Given the description of an element on the screen output the (x, y) to click on. 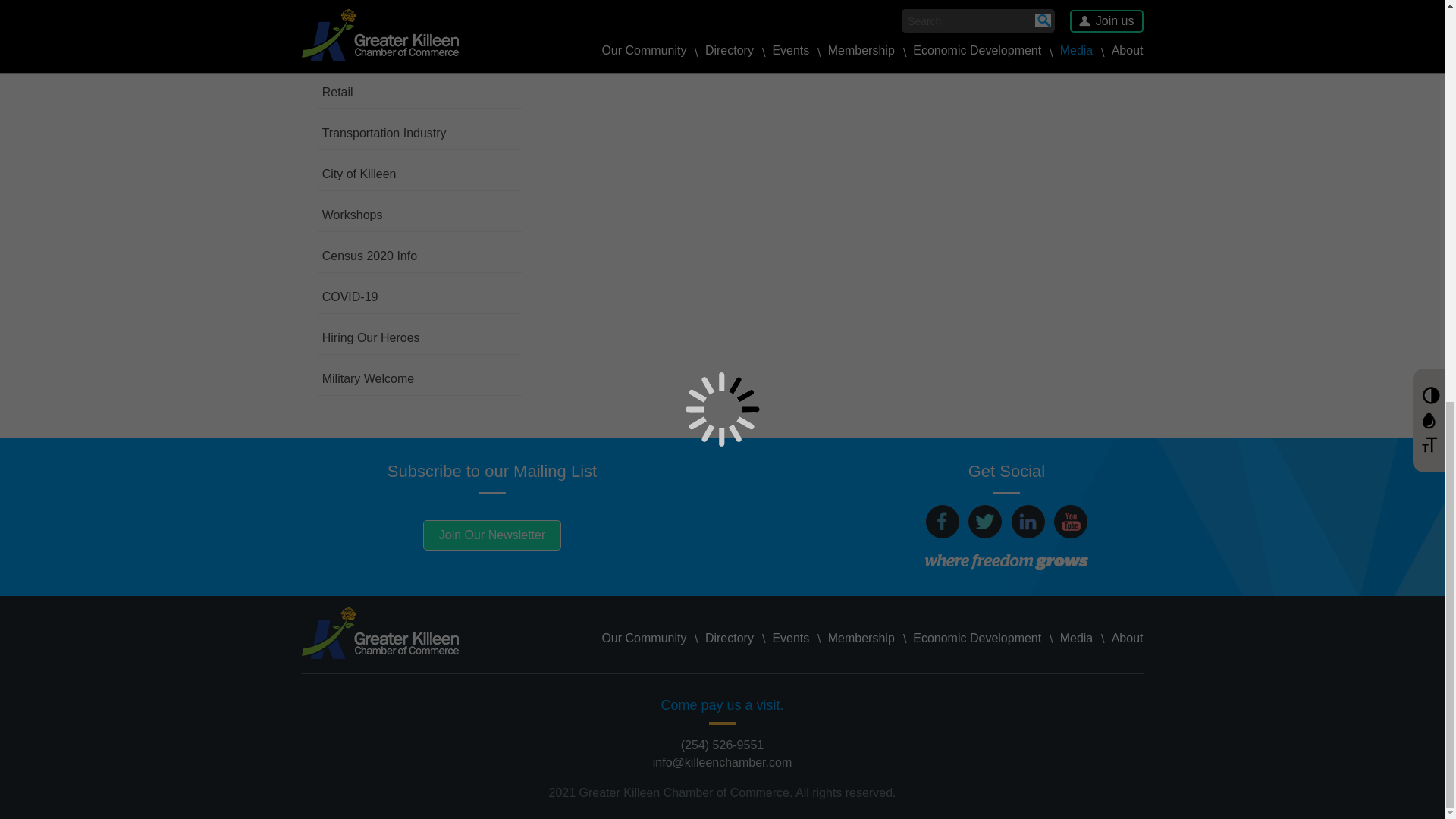
Our Community (644, 638)
Directory (729, 638)
Events (790, 638)
Greater Killeen Chamber of Commerce (379, 633)
Follow us on YouTube (1070, 521)
Membership (861, 638)
Follow us on Facebook (942, 521)
Economic Development (976, 638)
Follow us on LinkedIn (1028, 521)
Follow us on Twitter (984, 521)
